Given the description of an element on the screen output the (x, y) to click on. 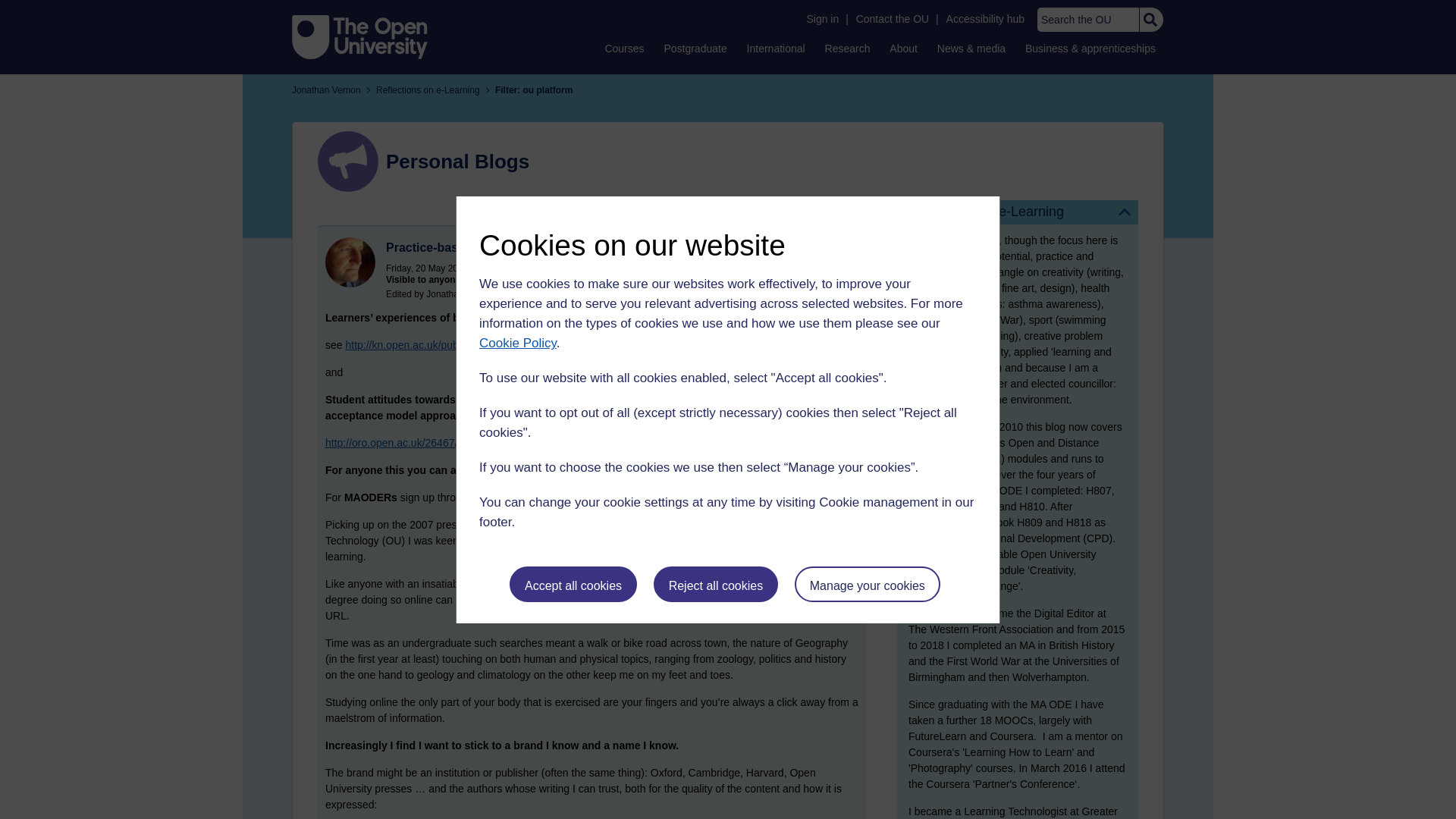
Accept all cookies (573, 583)
The Open University (360, 36)
Reflections on e-Learning (1017, 211)
Contact the OU (892, 19)
Postgraduate (695, 48)
About (903, 48)
Reject all cookies (715, 583)
Cookie Policy (517, 342)
Accessibility hub (985, 19)
